Given the description of an element on the screen output the (x, y) to click on. 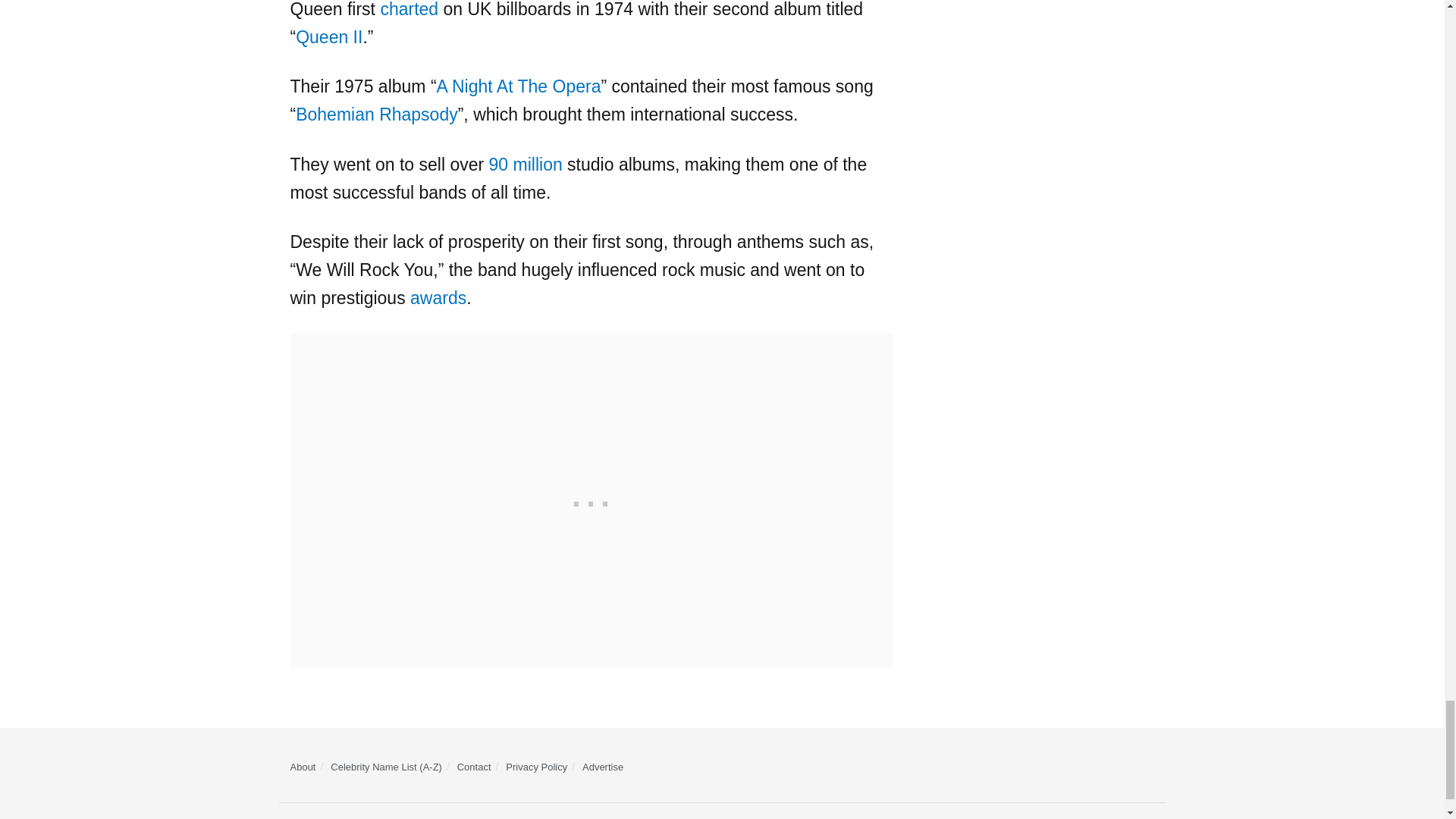
Contact (474, 767)
Privacy Policy (536, 767)
Advertise (602, 767)
charted (409, 9)
Queen II (328, 36)
About (302, 767)
90 million (525, 164)
awards (437, 297)
A Night At The Opera (518, 86)
Bohemian Rhapsody (376, 114)
